Given the description of an element on the screen output the (x, y) to click on. 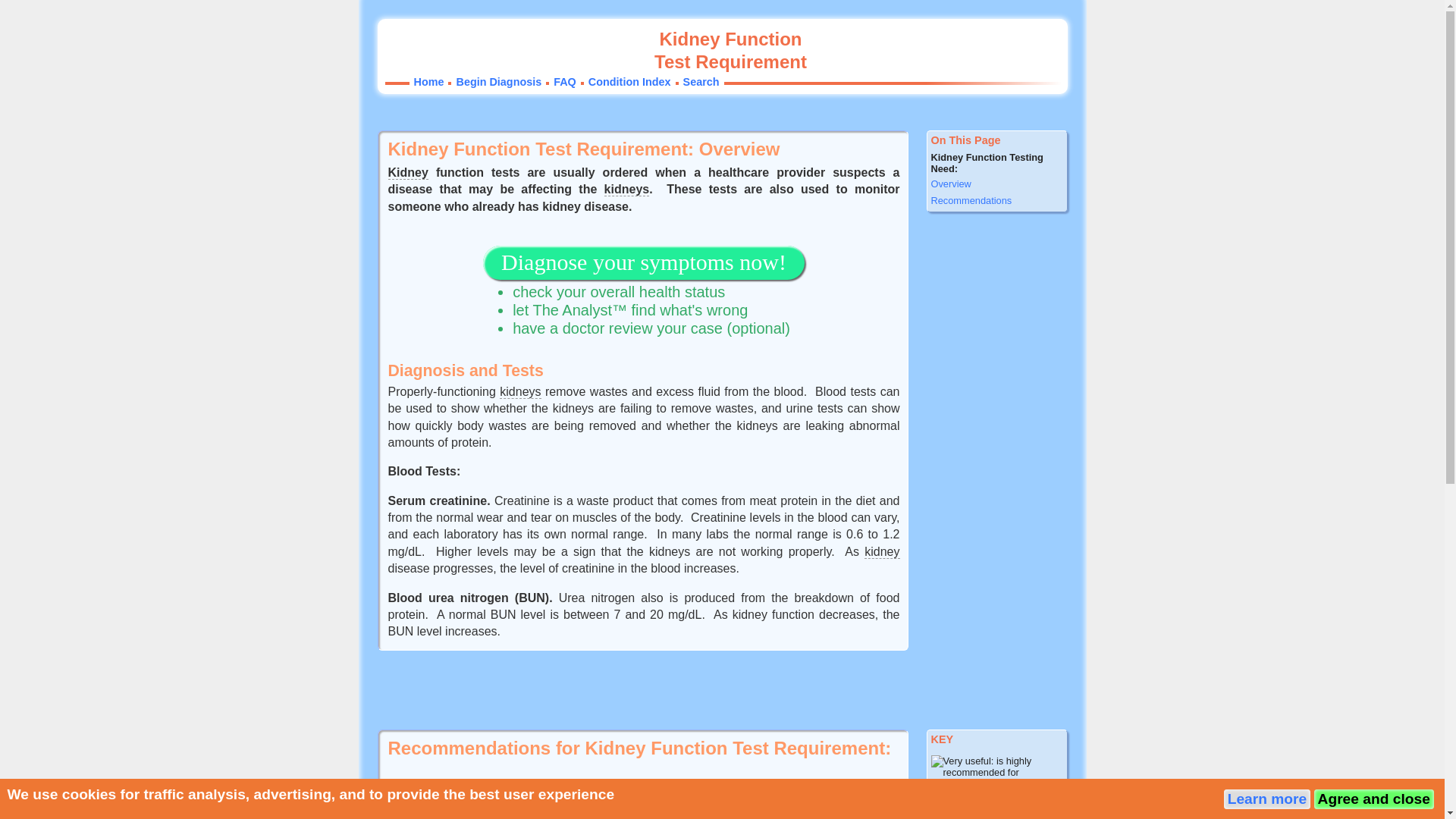
kidney (881, 551)
kidneys (519, 391)
Overview (996, 183)
kidneys (626, 189)
Agree and close (1373, 798)
Home (428, 81)
Diagnose your symptoms now! (644, 265)
Begin Diagnosis (498, 81)
Kidney (408, 172)
Urinalysis (453, 812)
Recommendations (996, 200)
FAQ (564, 81)
Learn more (1267, 798)
Condition Index (629, 81)
